Given the description of an element on the screen output the (x, y) to click on. 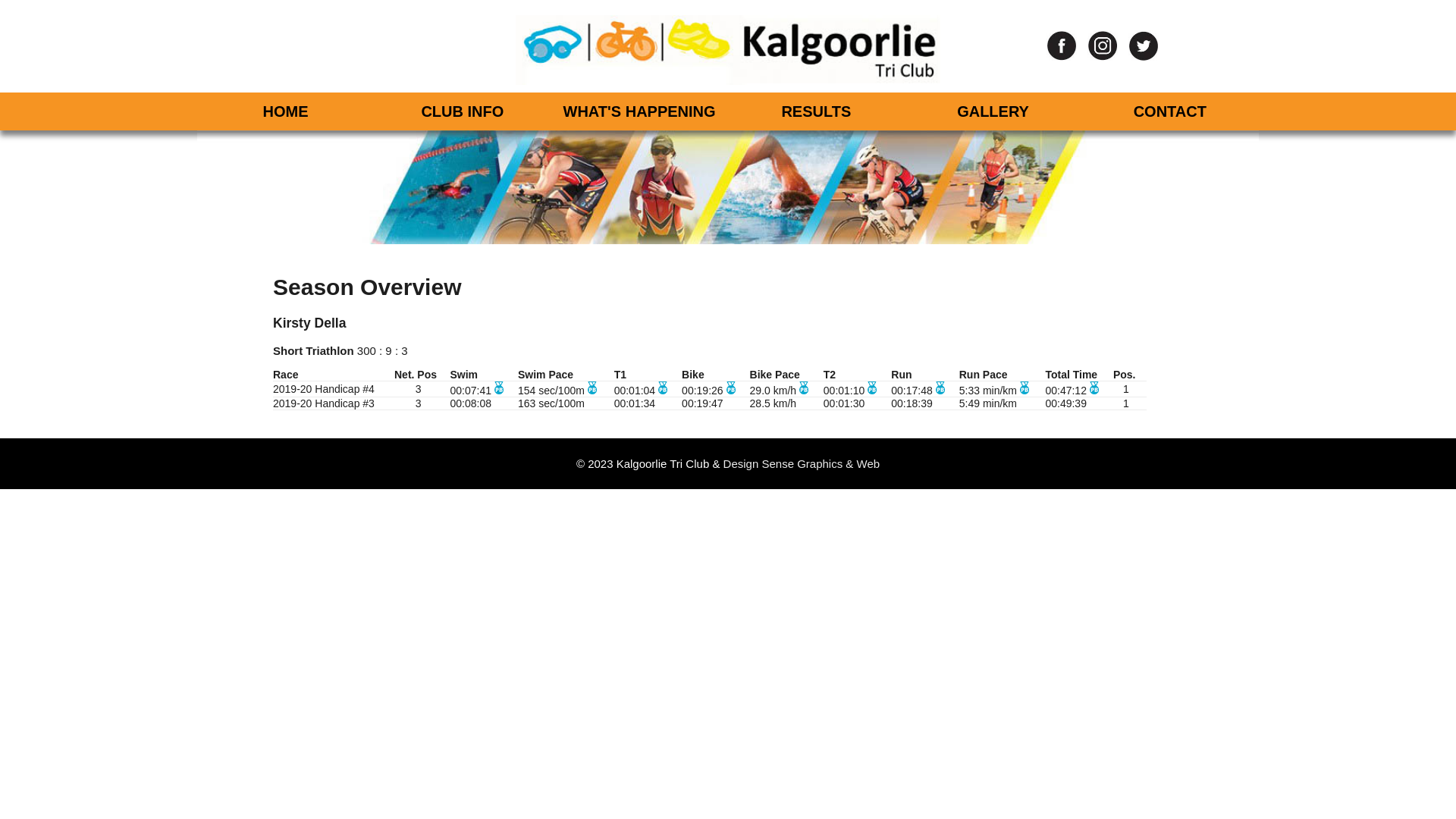
Personal best! Element type: hover (498, 390)
Personal best! Element type: hover (591, 390)
Personal best! Element type: hover (803, 390)
Personal best! Element type: hover (730, 390)
WHAT'S HAPPENING Element type: text (638, 111)
Personal best! Element type: hover (662, 390)
Personal best! Element type: hover (1024, 390)
HOME Element type: text (285, 111)
CONTACT Element type: text (1169, 111)
RESULTS Element type: text (816, 111)
Personal best! Element type: hover (1093, 390)
Personal best! Element type: hover (871, 390)
Personal best! Element type: hover (939, 390)
Design Sense Graphics & Web Element type: text (801, 463)
CLUB INFO Element type: text (461, 111)
GALLERY Element type: text (992, 111)
